Given the description of an element on the screen output the (x, y) to click on. 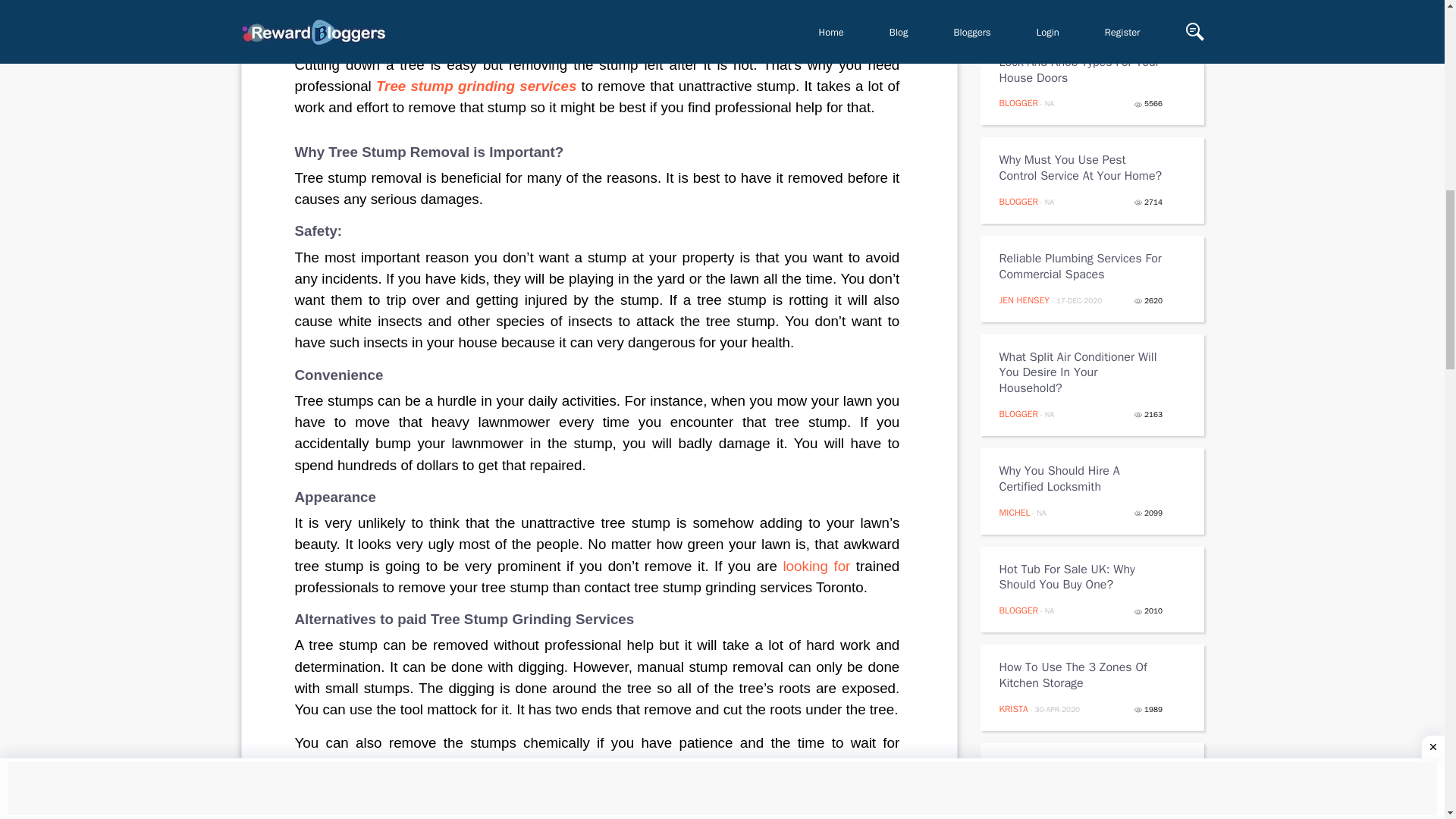
MICHEL (1014, 512)
looking for (816, 565)
KRISTA (1012, 708)
BLOGGER (1018, 201)
Hot Tub For Sale UK: Why Should You Buy One? (1080, 577)
Reliable Plumbing Services For Commercial Spaces (1080, 266)
Why You Should Hire A Certified Locksmith (1080, 479)
BLOGGER (1018, 817)
Tree stump grinding services (475, 85)
